Given the description of an element on the screen output the (x, y) to click on. 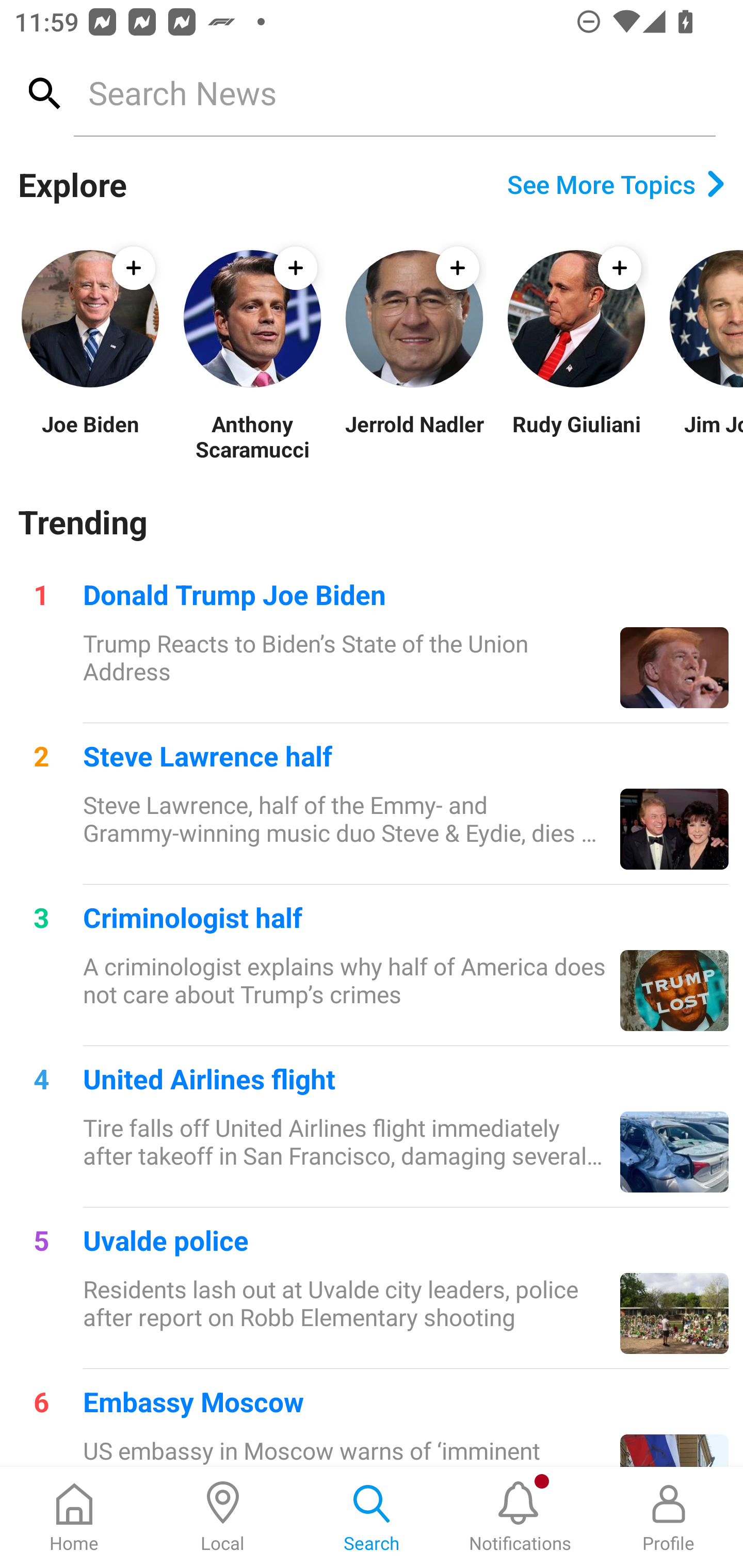
Search News (394, 92)
See More Topics (616, 183)
Joe Biden (89, 436)
Anthony Scaramucci (251, 436)
Jerrold Nadler (413, 436)
Rudy Giuliani (575, 436)
Home (74, 1517)
Local (222, 1517)
Notifications, New notification Notifications (519, 1517)
Profile (668, 1517)
